Given the description of an element on the screen output the (x, y) to click on. 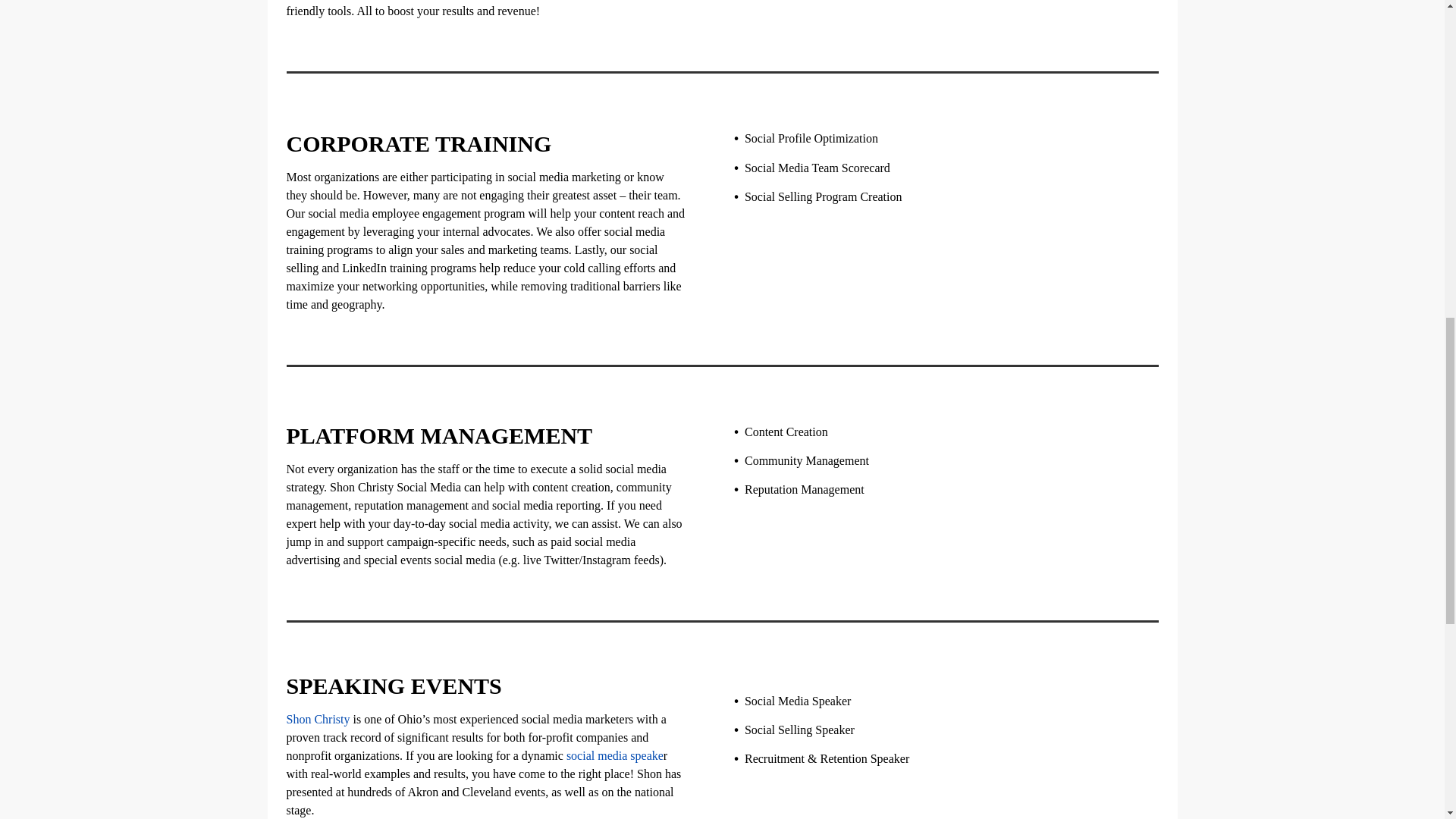
Shon Christy (318, 718)
social media speake (614, 755)
